Given the description of an element on the screen output the (x, y) to click on. 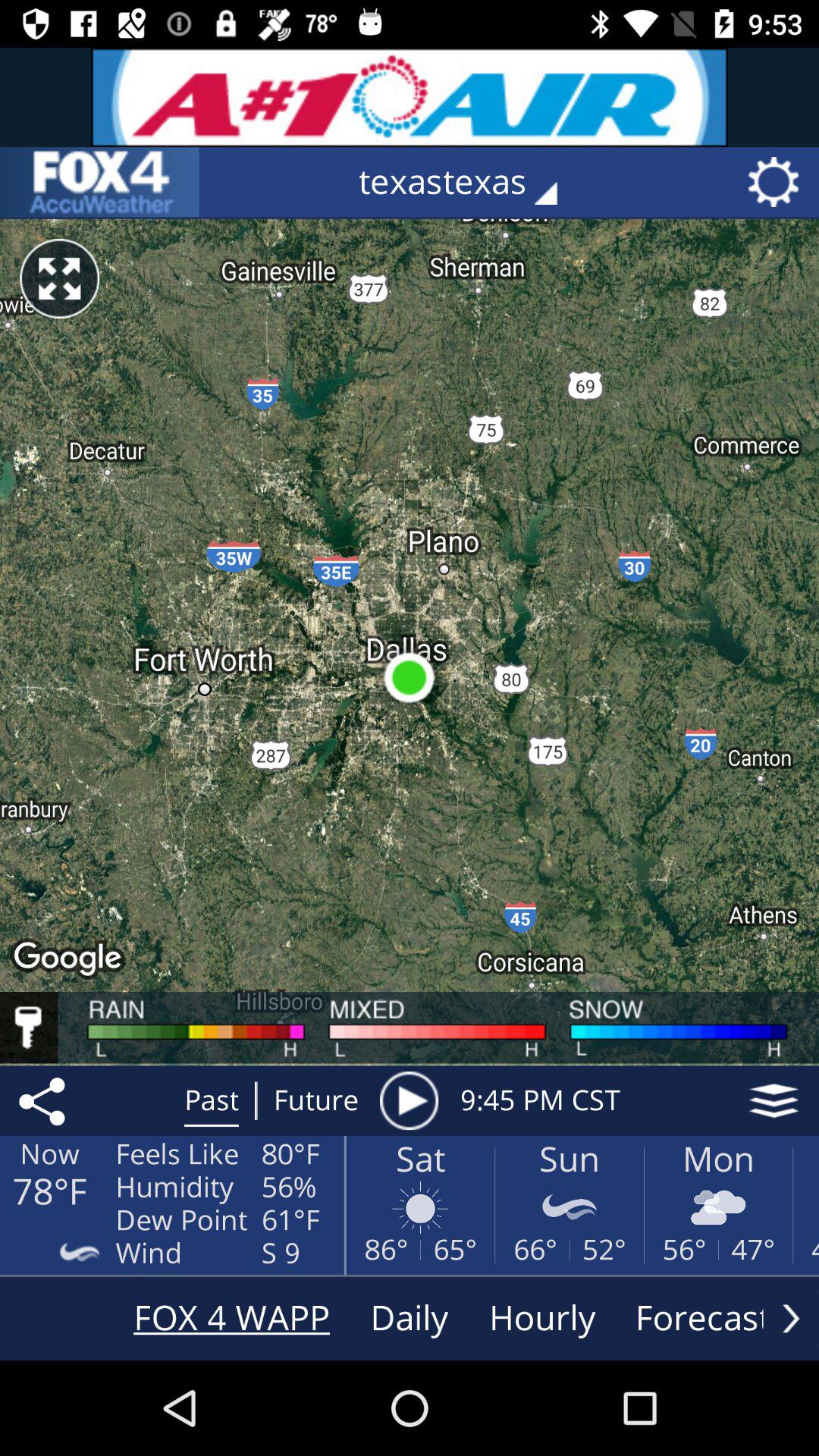
open the texastexas icon (468, 182)
